Given the description of an element on the screen output the (x, y) to click on. 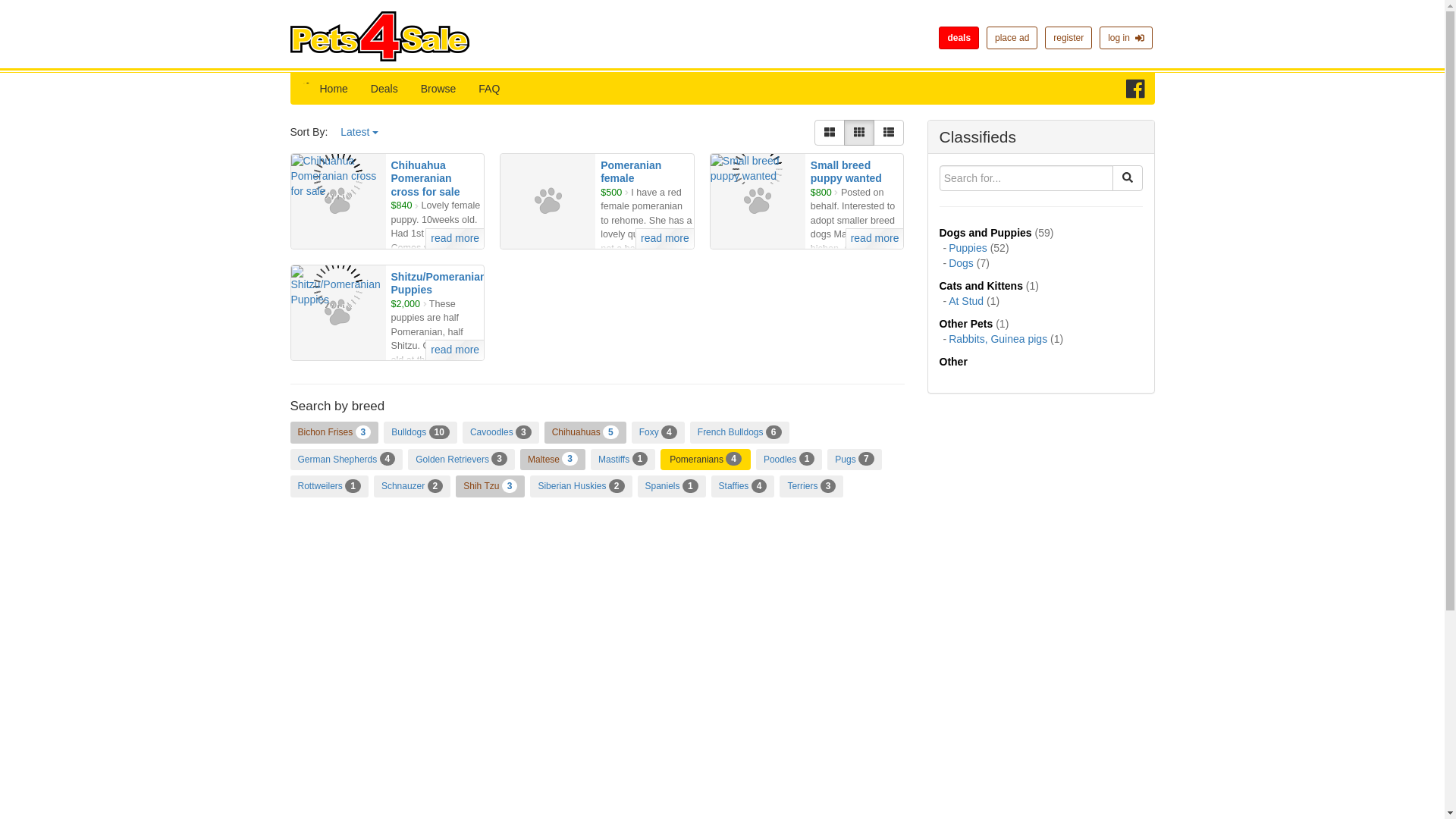
Pomeranians 4 (706, 459)
Golden Retrievers 3 (461, 459)
read more (454, 238)
Chihuahuas 5 (585, 432)
Mastiffs 1 (623, 459)
Chihuahua Pomeranian cross for sale (425, 178)
Change layout to regular thumbnails (859, 132)
Change layout to large thumbnails (828, 132)
deals (958, 37)
Pomeranian female (630, 171)
Small breed puppy wanted (846, 171)
Latest (359, 132)
Bulldogs 10 (420, 432)
Maltese 3 (552, 459)
FAQ (489, 88)
